Given the description of an element on the screen output the (x, y) to click on. 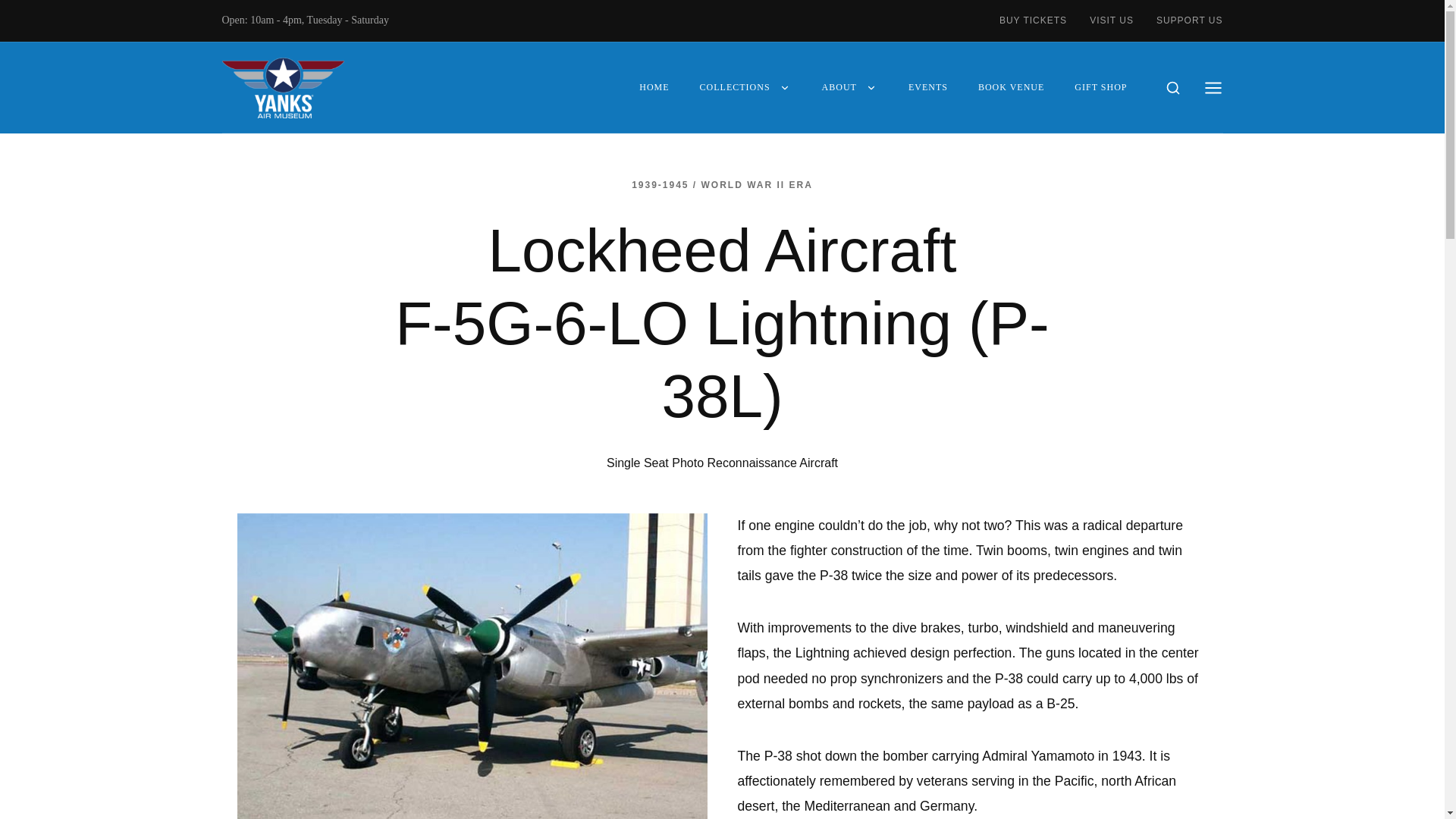
SUPPORT US (1183, 20)
BUY TICKETS (1038, 20)
GIFT SHOP (1100, 87)
BOOK VENUE (1010, 87)
COLLECTIONS (745, 87)
VISIT US (1111, 20)
ABOUT (849, 87)
